Given the description of an element on the screen output the (x, y) to click on. 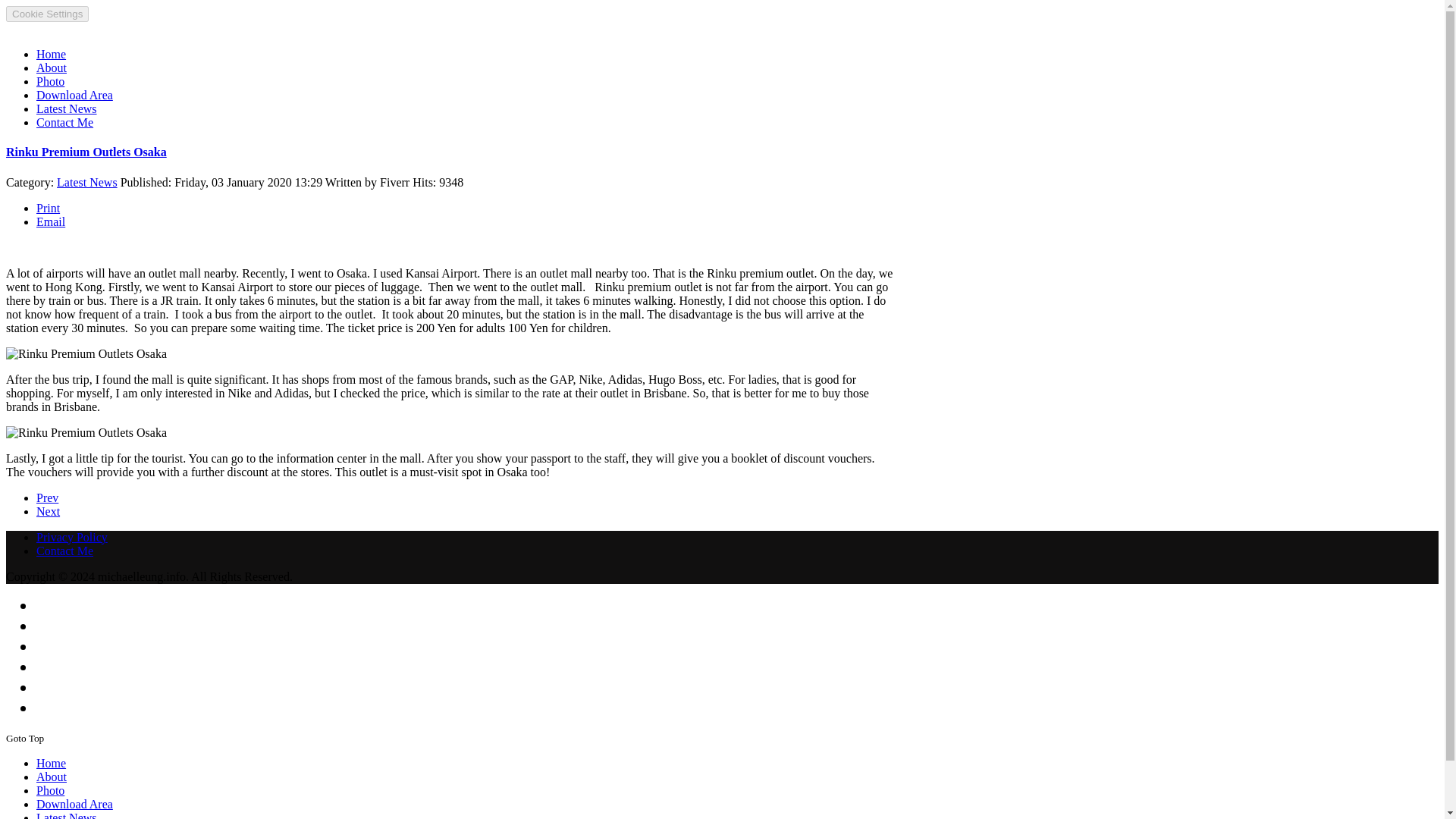
Contact Me (64, 122)
Home (50, 762)
About (51, 776)
Rinku Premium Outlets Osaka (86, 151)
Cookie Settings (46, 13)
Latest News (86, 182)
Print (47, 207)
Osaka Castle  (47, 511)
Latest News (66, 815)
Latest News (66, 108)
Download Area (74, 803)
Hong Kong Airport Breakfast (47, 497)
Privacy Policy (71, 536)
Contact Me (64, 550)
Email this link to a friend (50, 221)
